Given the description of an element on the screen output the (x, y) to click on. 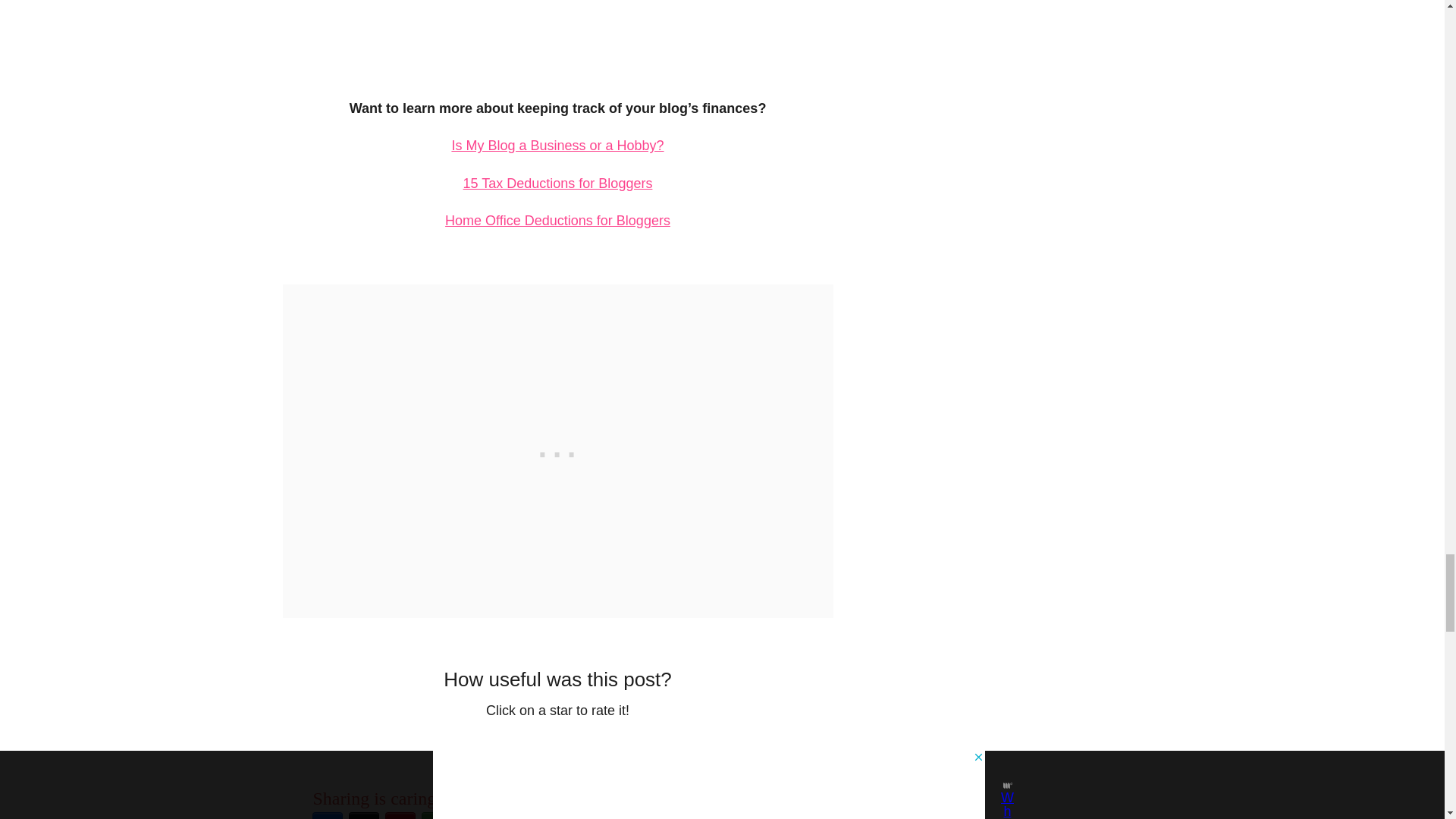
More Options (436, 814)
Facebook (327, 814)
Pinterest (400, 814)
